Given the description of an element on the screen output the (x, y) to click on. 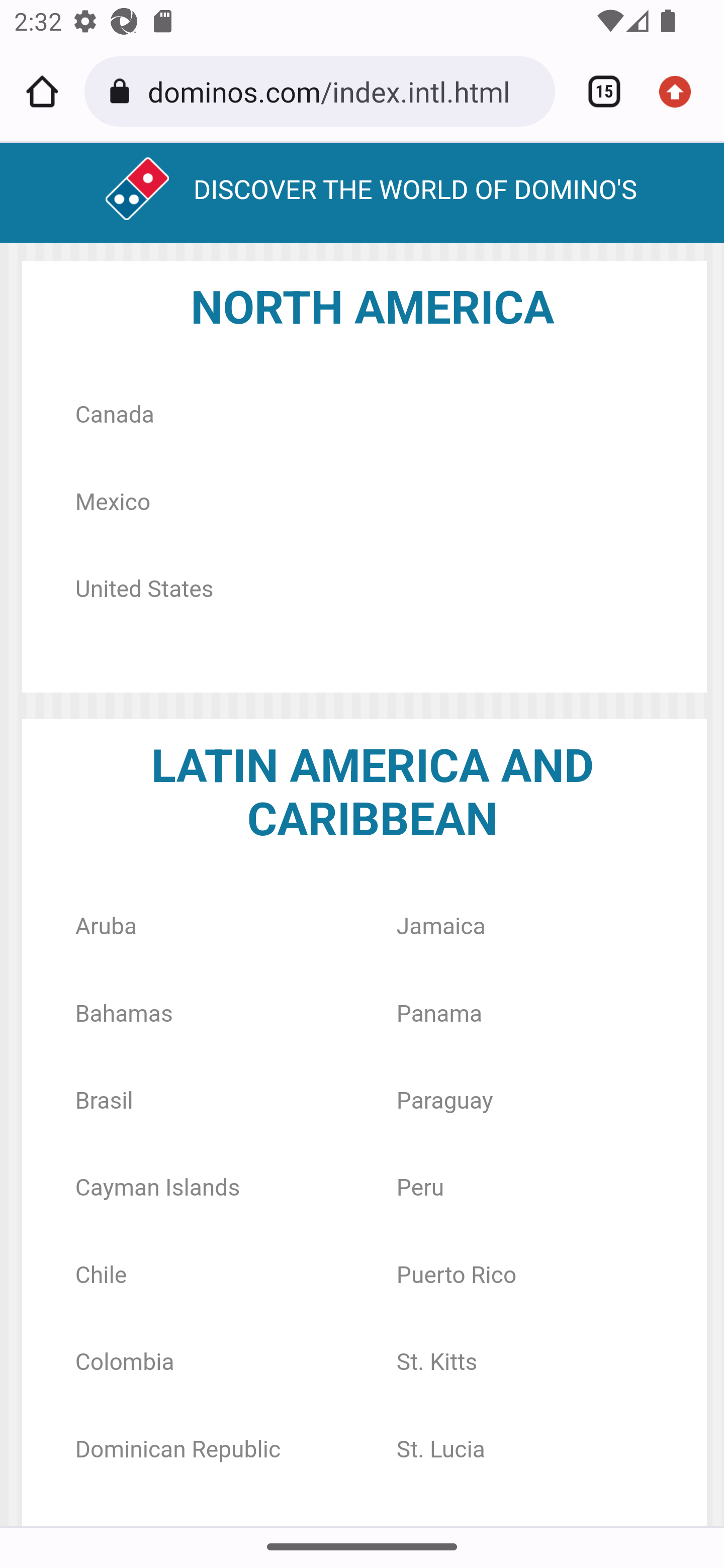
Home (42, 91)
Connection is secure (122, 91)
Switch or close tabs (597, 91)
Update available. More options (681, 91)
dominos.com/index.intl.html (343, 90)
Canada (113, 415)
Mexico (112, 502)
United States (144, 589)
Aruba (105, 926)
Jamaica (440, 926)
Bahamas (123, 1013)
Panama (439, 1013)
Brasil (103, 1100)
Paraguay (445, 1100)
Cayman Islands (157, 1187)
Peru (420, 1187)
Chile (100, 1274)
Puerto Rico (456, 1274)
Colombia (124, 1362)
St. Kitts (437, 1362)
Dominican Republic (177, 1448)
St. Lucia (440, 1448)
